Given the description of an element on the screen output the (x, y) to click on. 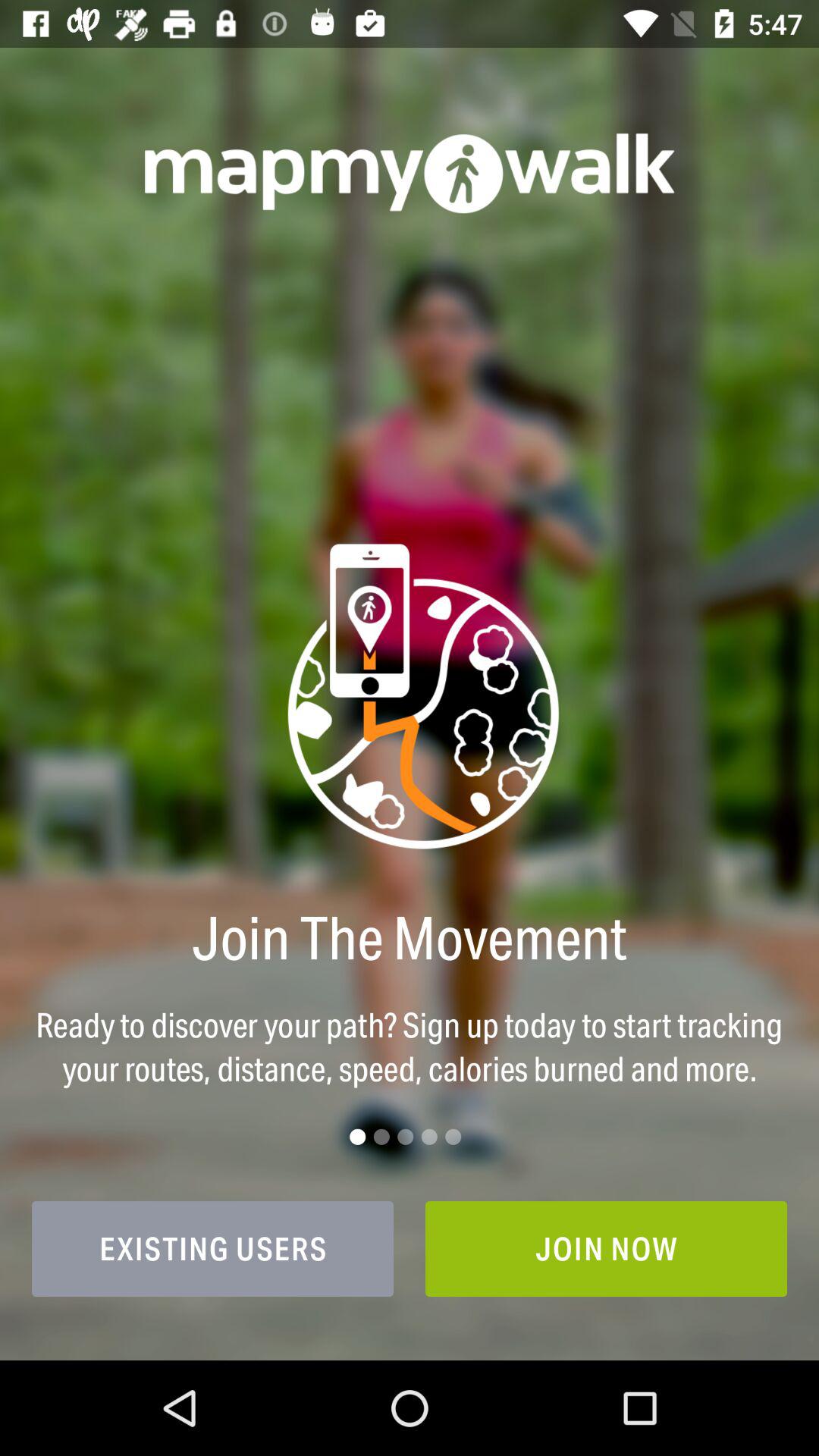
scroll to join now icon (606, 1248)
